Given the description of an element on the screen output the (x, y) to click on. 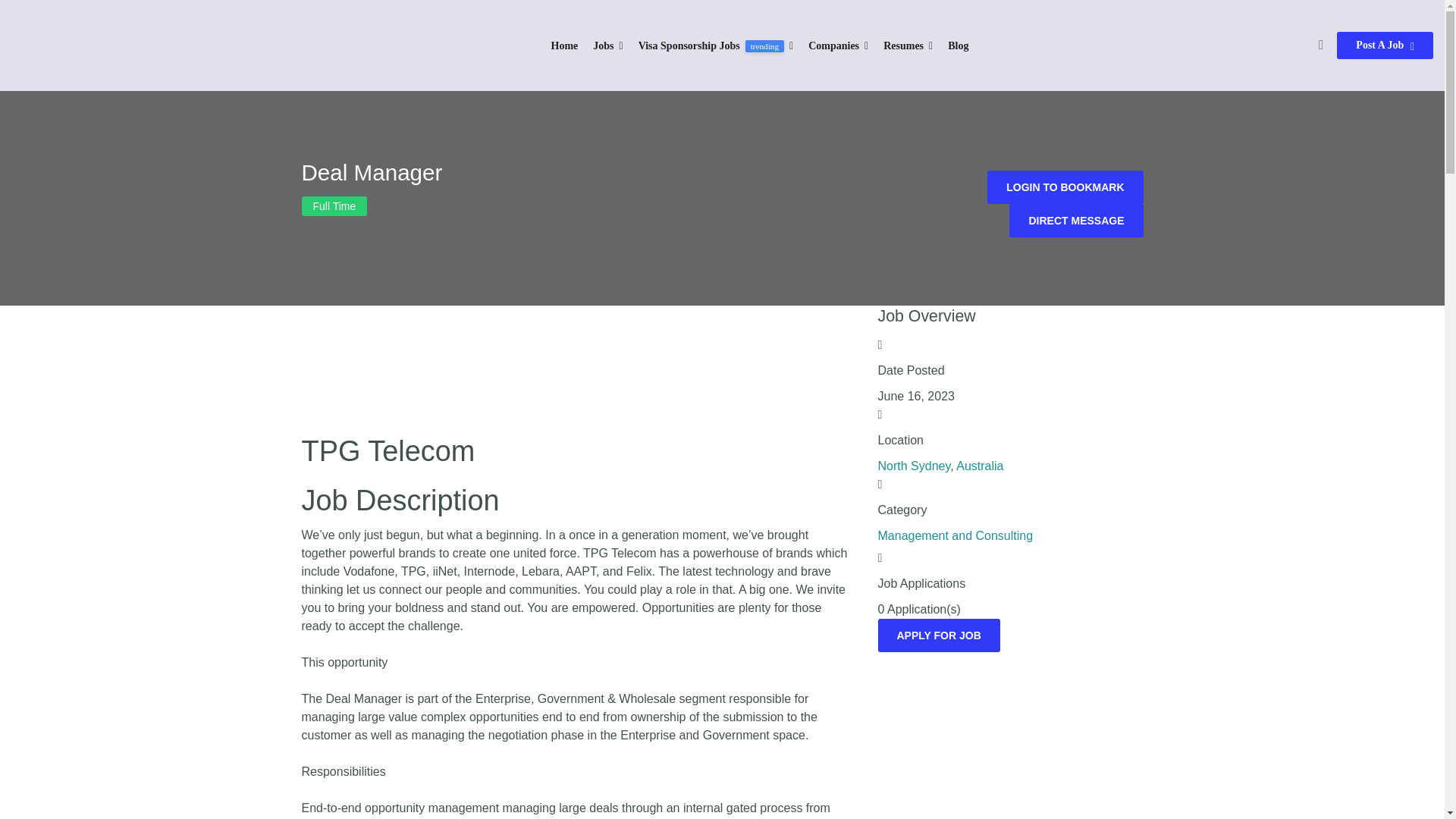
Management and Consulting (955, 535)
DIRECT MESSAGE (1075, 220)
North Sydney (913, 465)
Visa Sponsorship Jobstrending (716, 45)
Home (564, 45)
Jobs n Recruitment (105, 45)
Jobs (607, 45)
Resumes (908, 45)
Post A Job (1384, 44)
Blog (957, 45)
Australia (979, 465)
Companies (837, 45)
LOGIN TO BOOKMARK (1064, 186)
APPLY FOR JOB (938, 635)
